Given the description of an element on the screen output the (x, y) to click on. 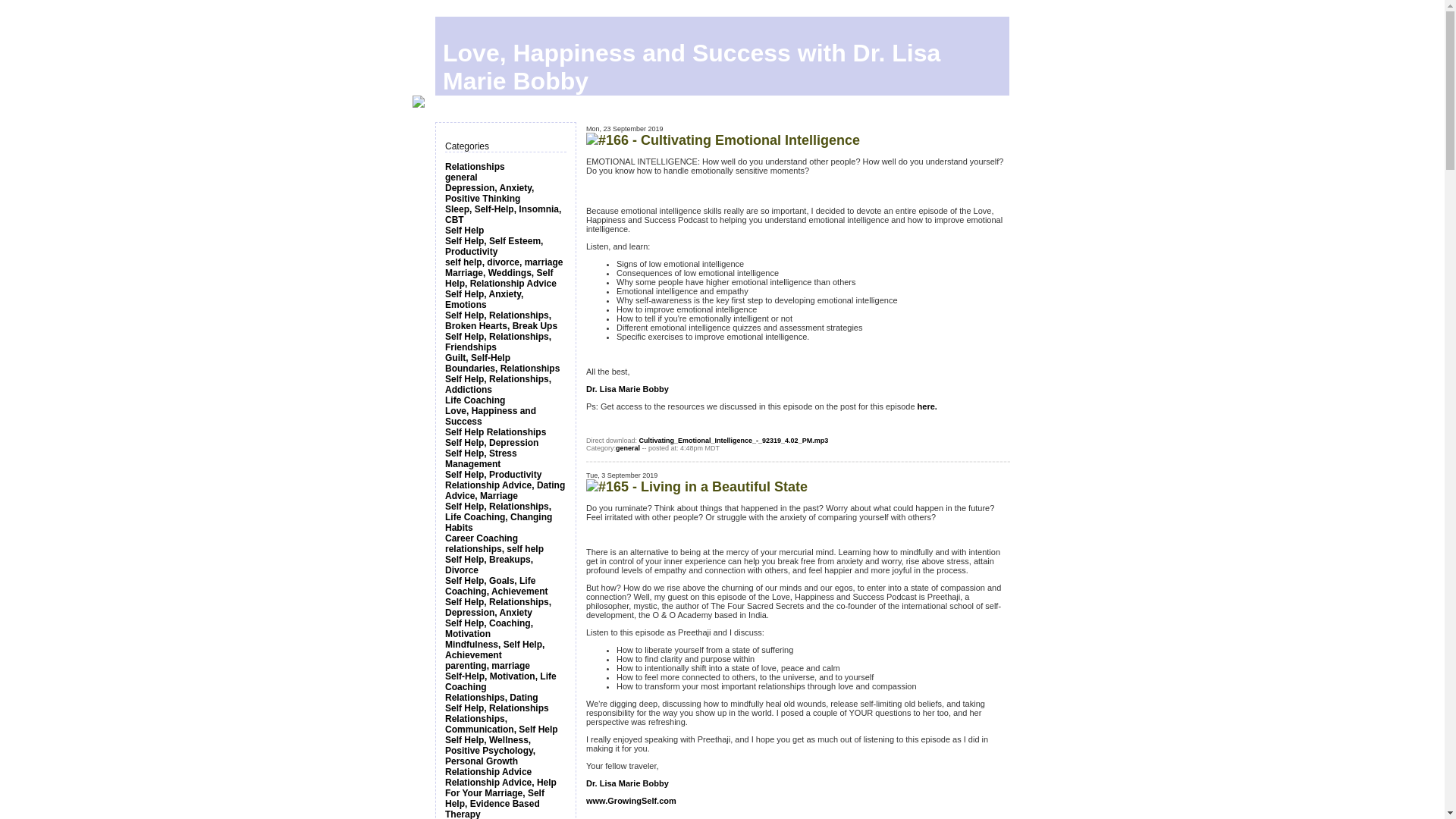
Relationships, Dating (491, 697)
parenting, marriage (487, 665)
Self Help, Relationships, Broken Hearts, Break Ups (501, 320)
Self Help, Self Esteem, Productivity (494, 246)
Self-Help, Motivation, Life Coaching (500, 681)
Relationship Advice, Dating Advice, Marriage (504, 490)
Self Help, Productivity (493, 474)
Relationships, Communication, Self Help (501, 723)
Self Help, Relationships, Addictions (498, 383)
Marriage, Weddings, Self Help, Relationship Advice (500, 278)
